Given the description of an element on the screen output the (x, y) to click on. 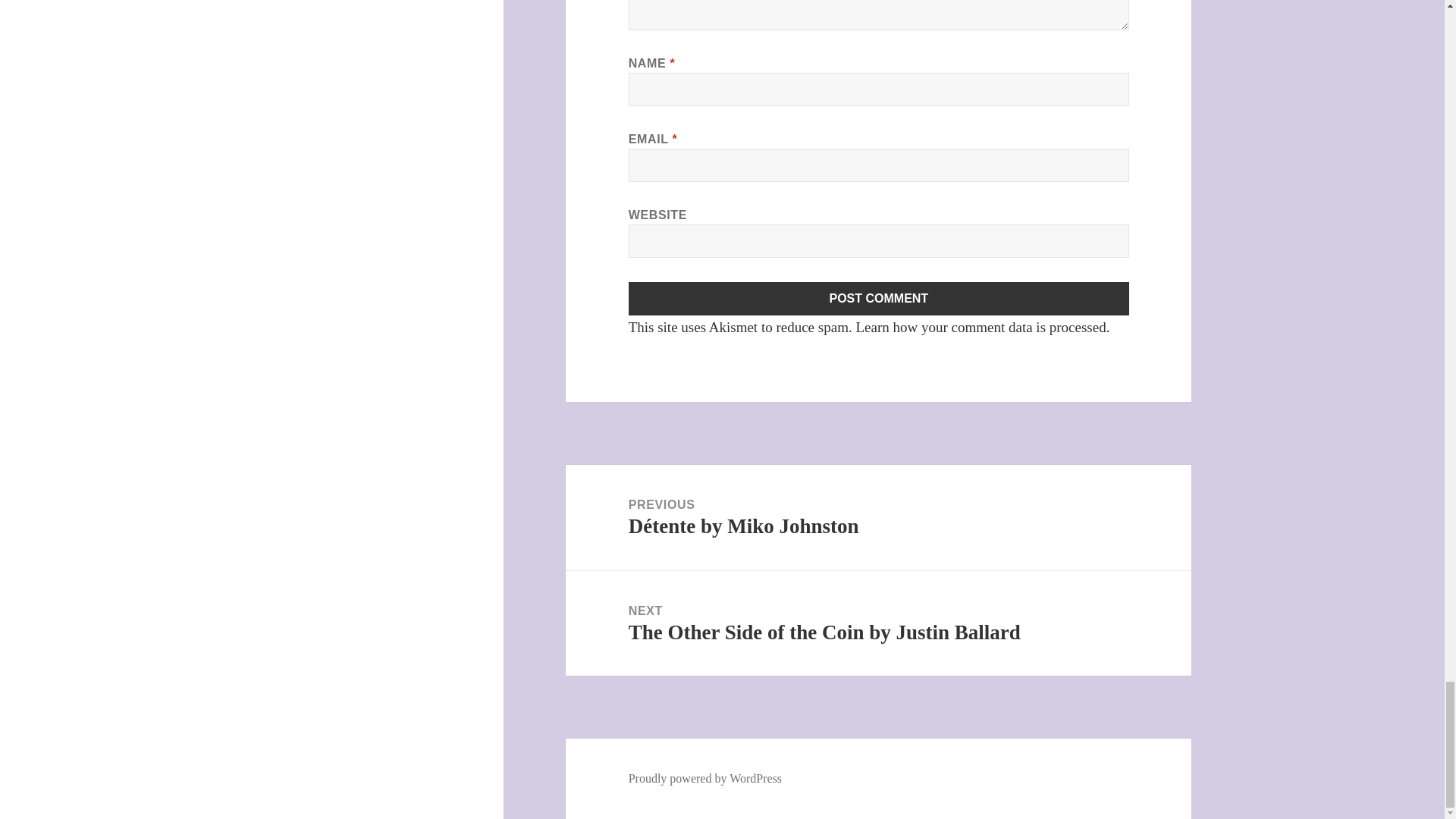
Post Comment (878, 298)
